Given the description of an element on the screen output the (x, y) to click on. 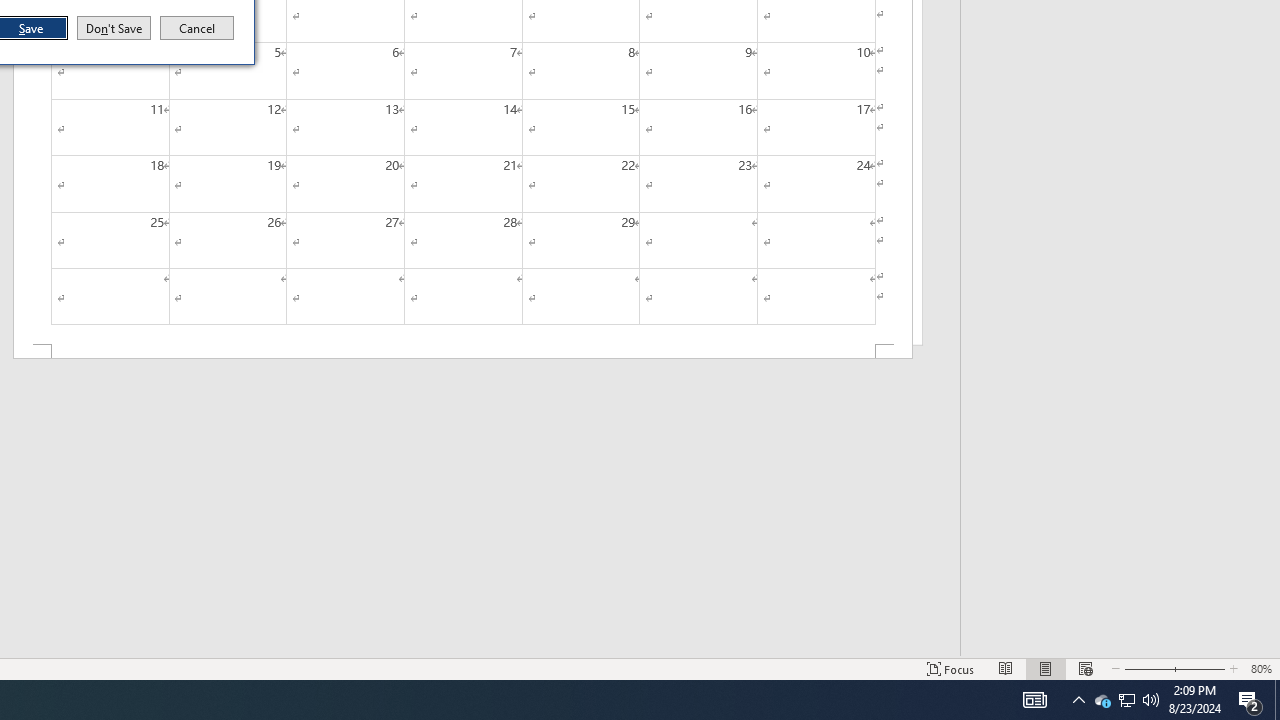
Don't Save (113, 27)
Show desktop (1277, 699)
User Promoted Notification Area (1126, 699)
AutomationID: 4105 (1034, 699)
